Given the description of an element on the screen output the (x, y) to click on. 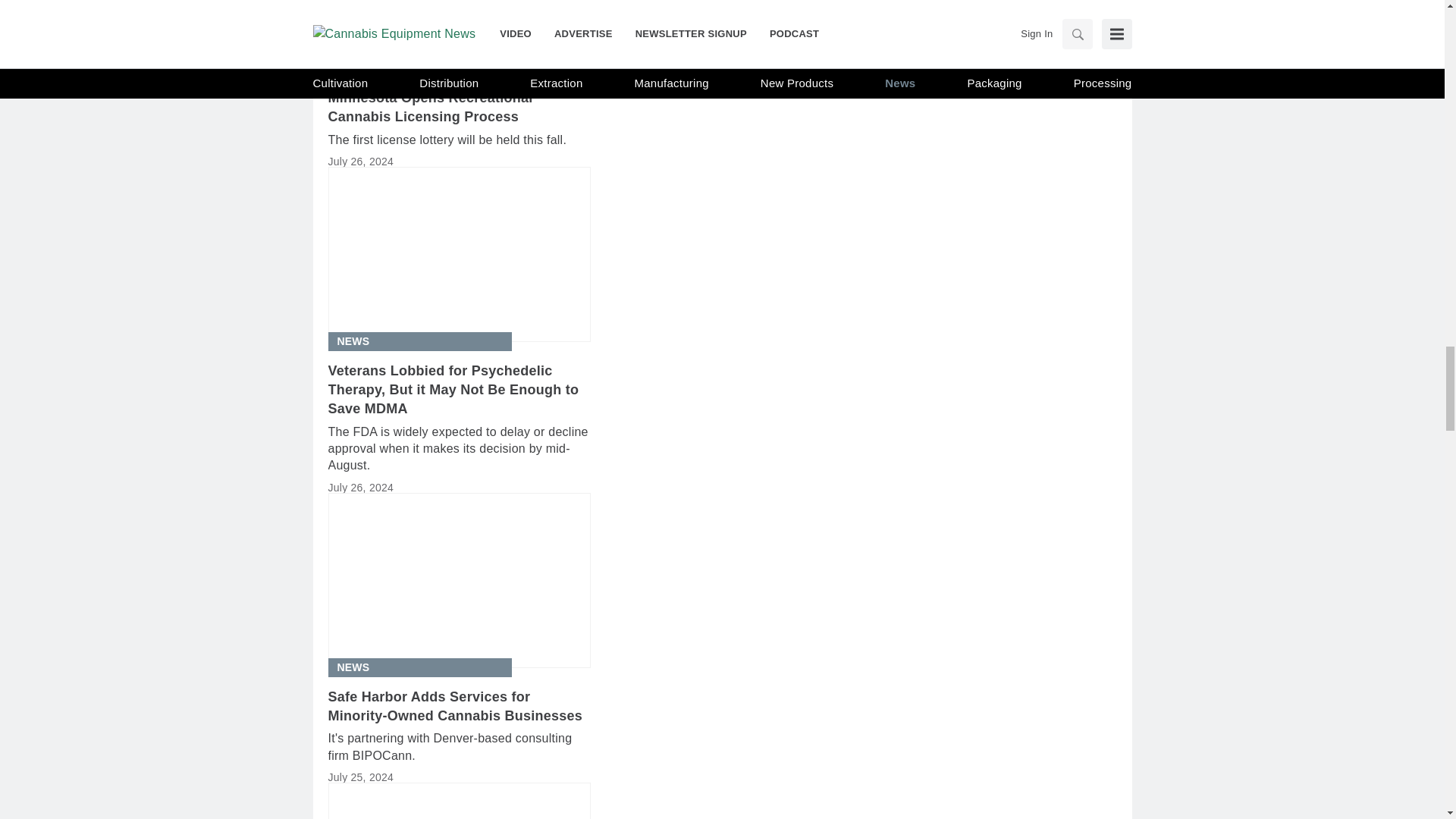
Distribution (374, 68)
News (352, 341)
